Given the description of an element on the screen output the (x, y) to click on. 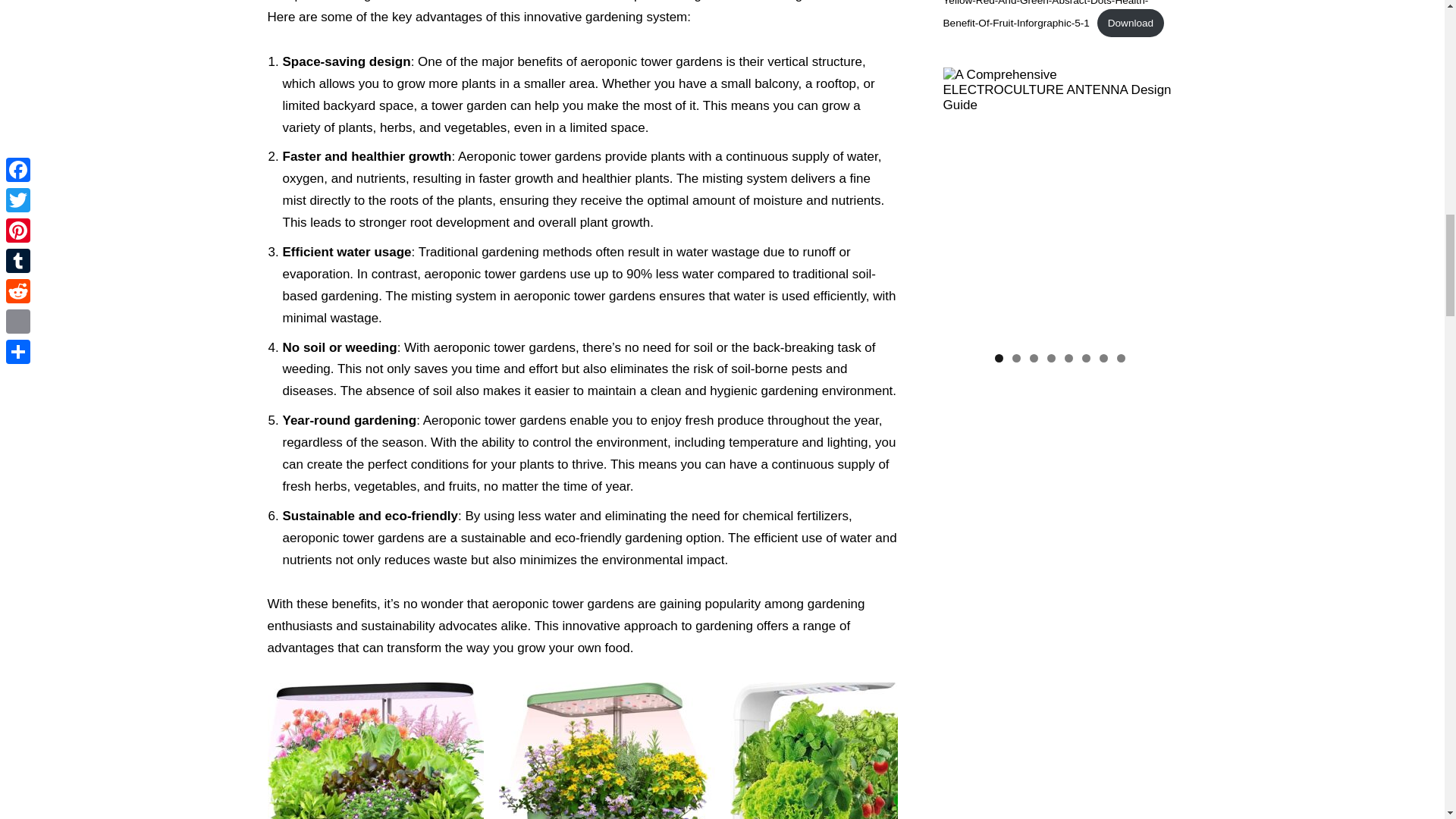
Hydroponics Growing System-3 (836, 750)
Hydroponics Growing System-2 (606, 750)
Hydroponics Growing System-1 (374, 750)
